Given the description of an element on the screen output the (x, y) to click on. 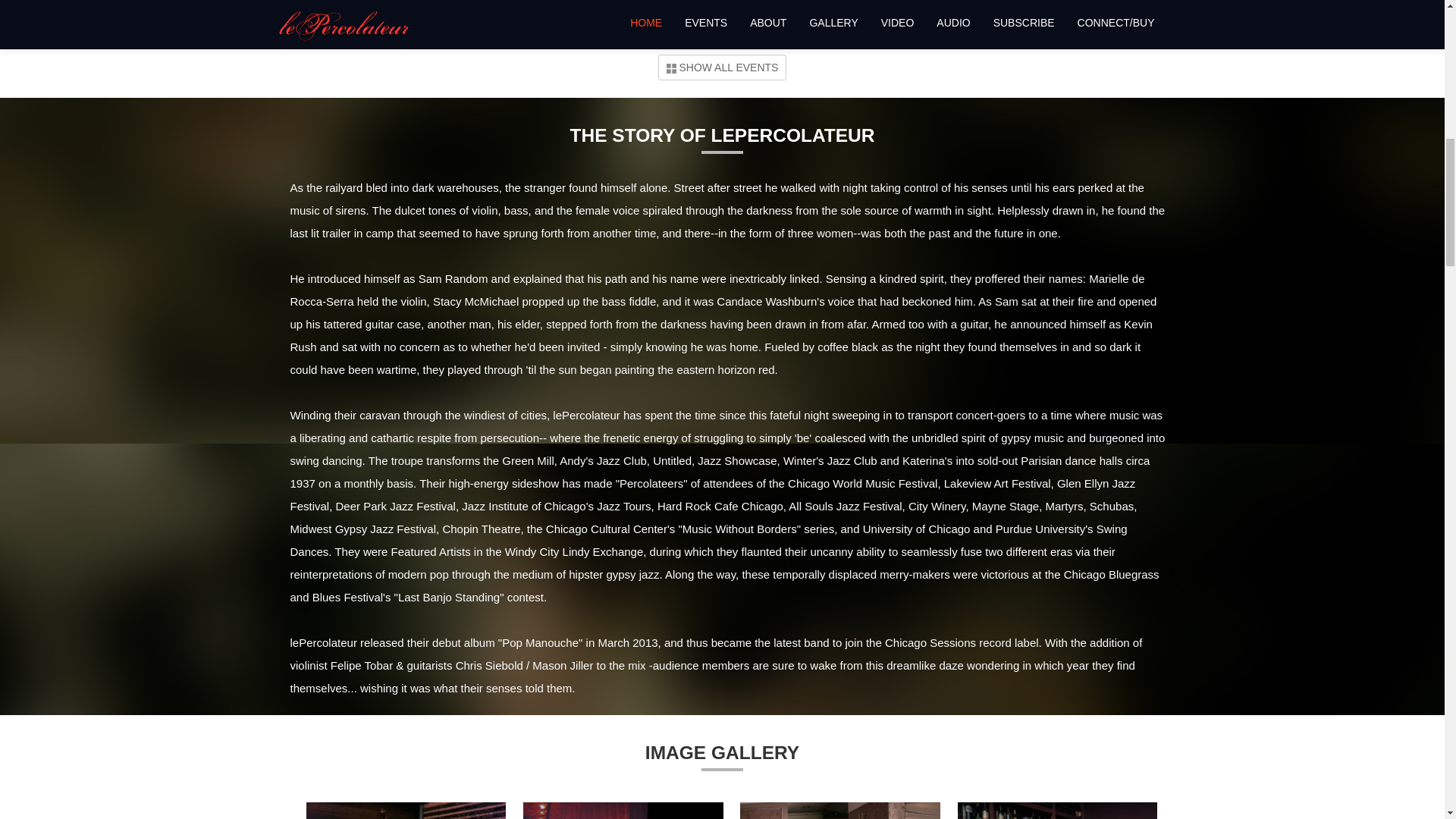
VENUE INFO (1025, 9)
SHOW ALL EVENTS (722, 67)
